Given the description of an element on the screen output the (x, y) to click on. 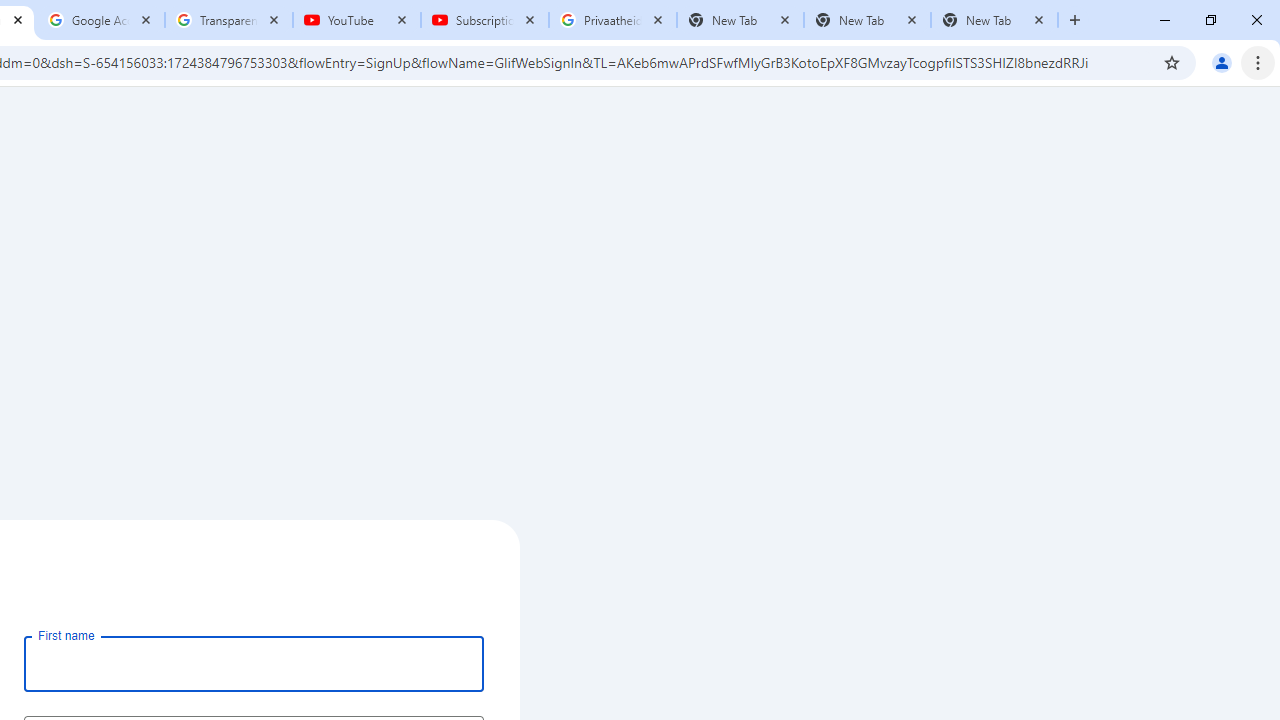
Close (1039, 19)
You (1221, 62)
New Tab (994, 20)
YouTube (357, 20)
Minimize (1165, 20)
Restore (1210, 20)
New Tab (1075, 20)
First name (253, 663)
Subscriptions - YouTube (485, 20)
Chrome (1260, 62)
Google Account (101, 20)
Bookmark this tab (1171, 62)
